Given the description of an element on the screen output the (x, y) to click on. 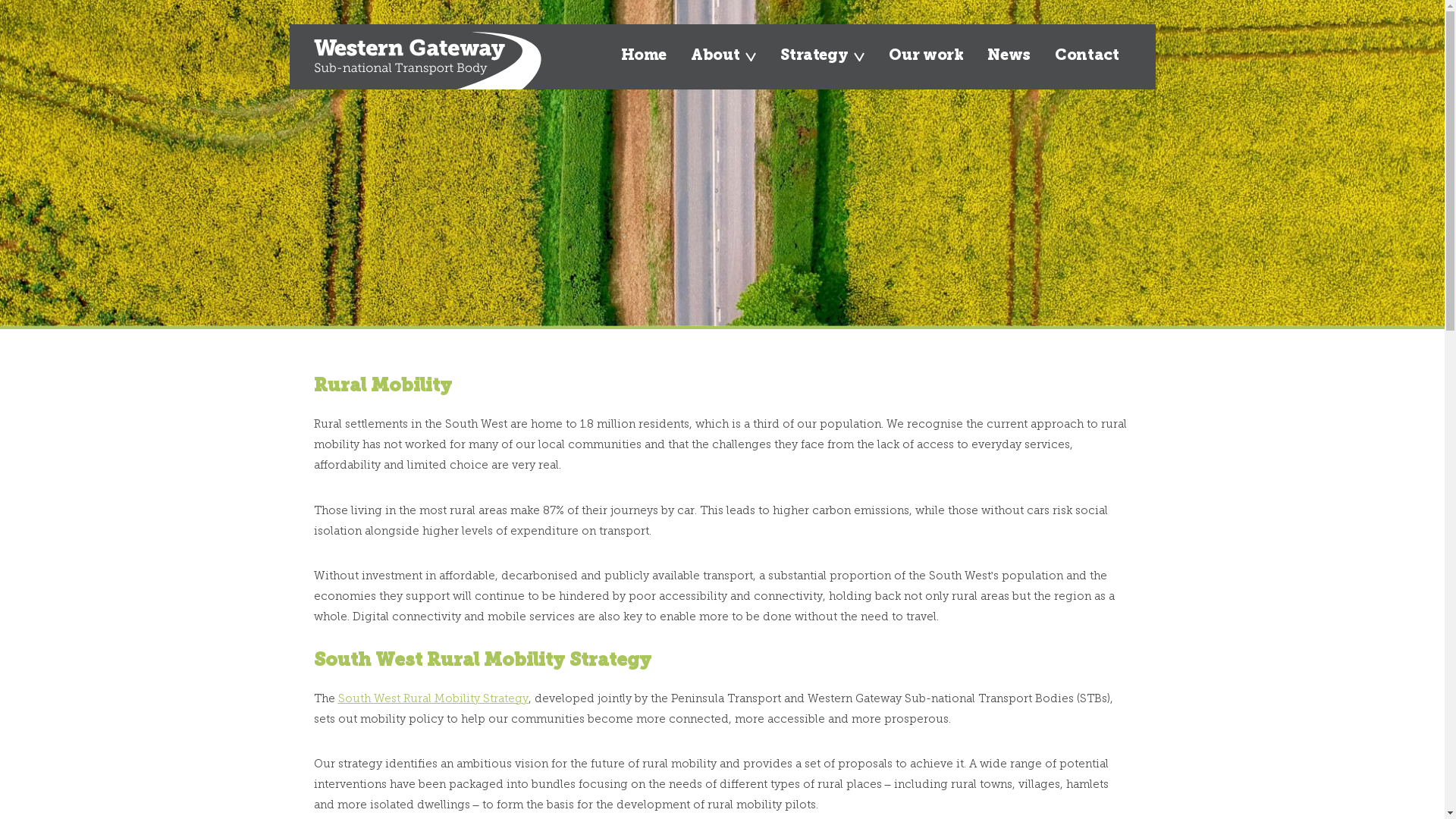
About (723, 56)
Contact (1086, 56)
News (1008, 56)
Home (643, 56)
South West Rural Mobility Strategy (432, 697)
Our work (925, 56)
Strategy (822, 56)
